Given the description of an element on the screen output the (x, y) to click on. 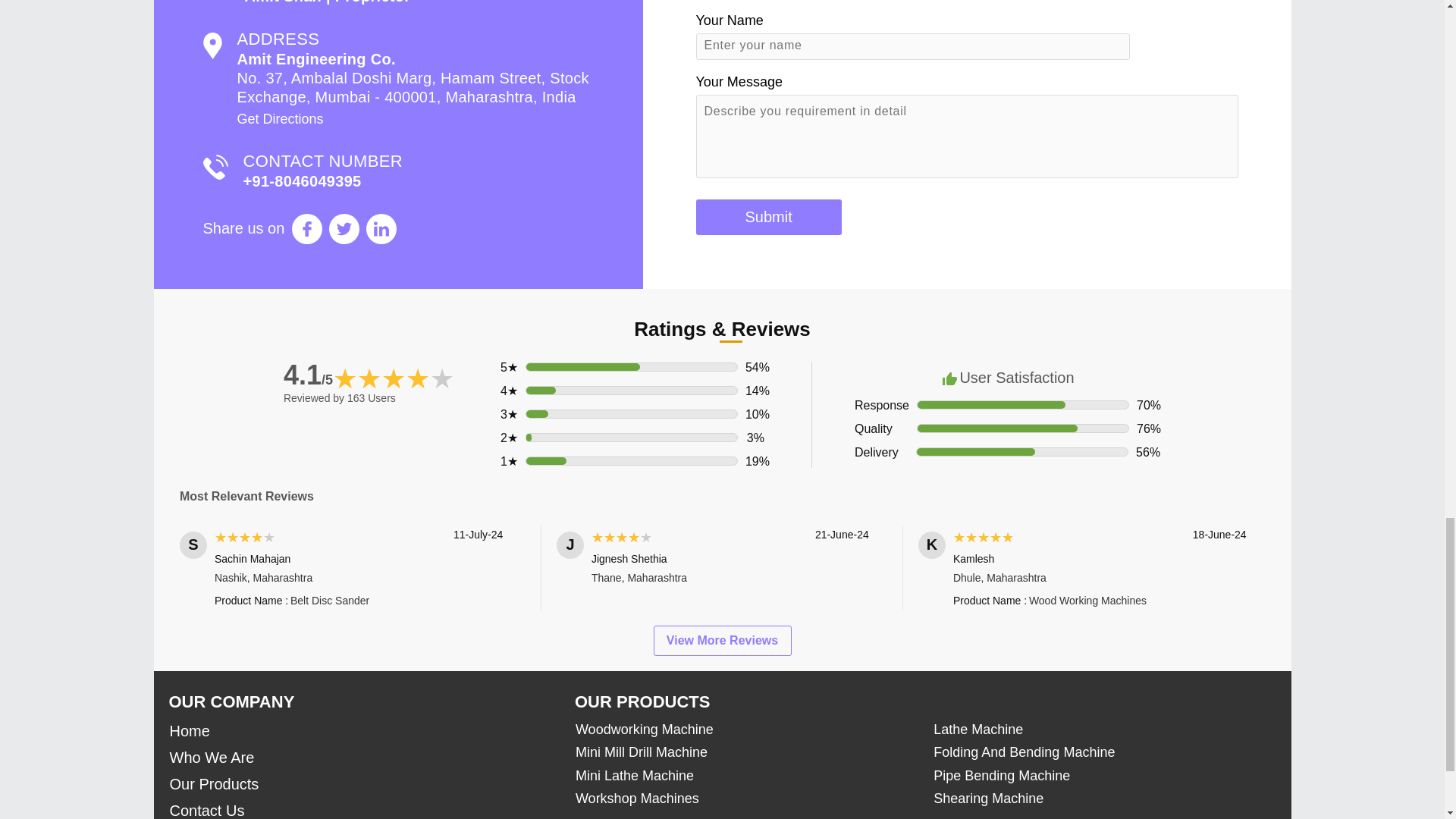
4.1 out of 5 Votes (308, 374)
Submit (768, 217)
